Given the description of an element on the screen output the (x, y) to click on. 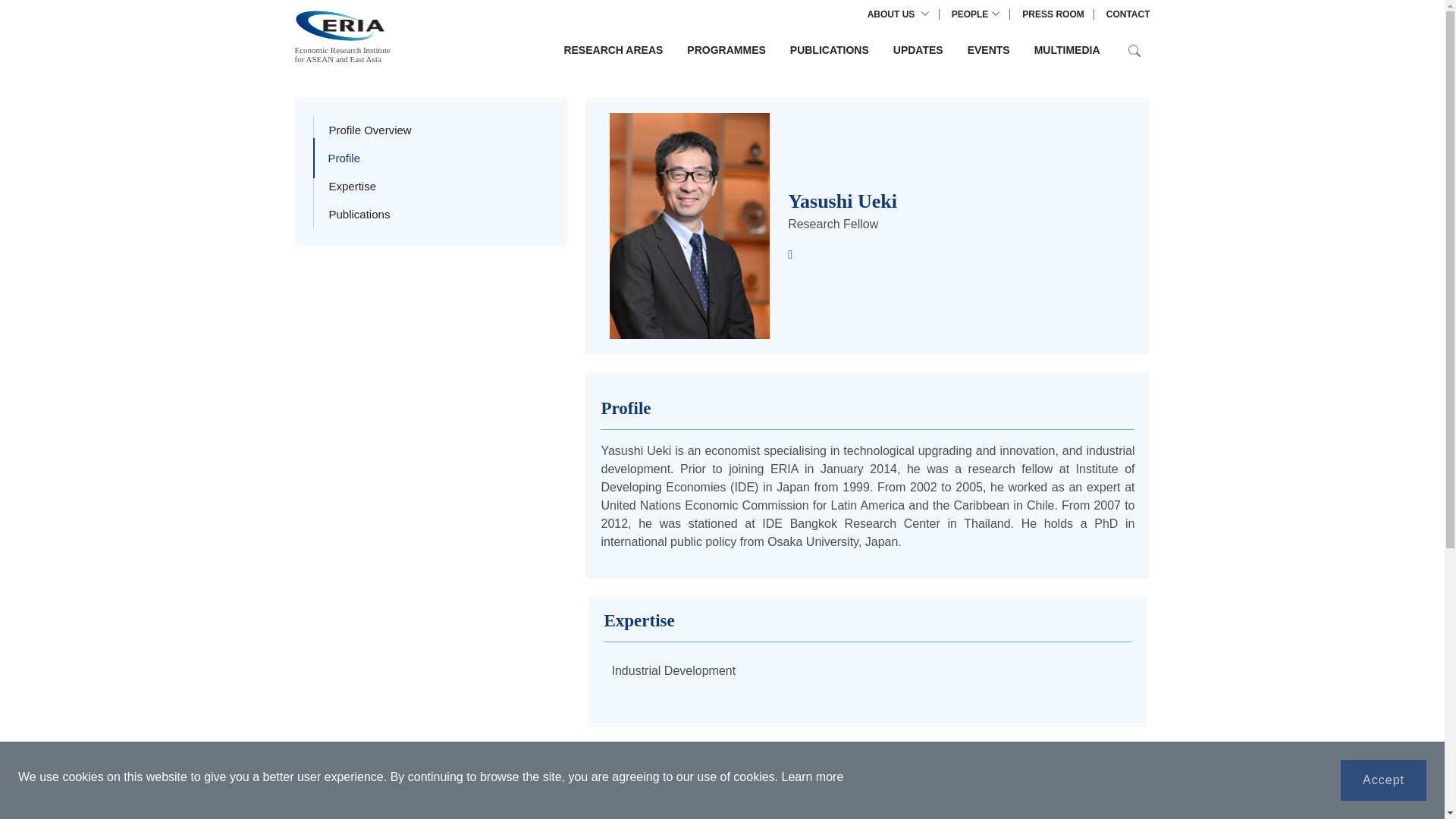
Search General ERIA (1134, 50)
